Given the description of an element on the screen output the (x, y) to click on. 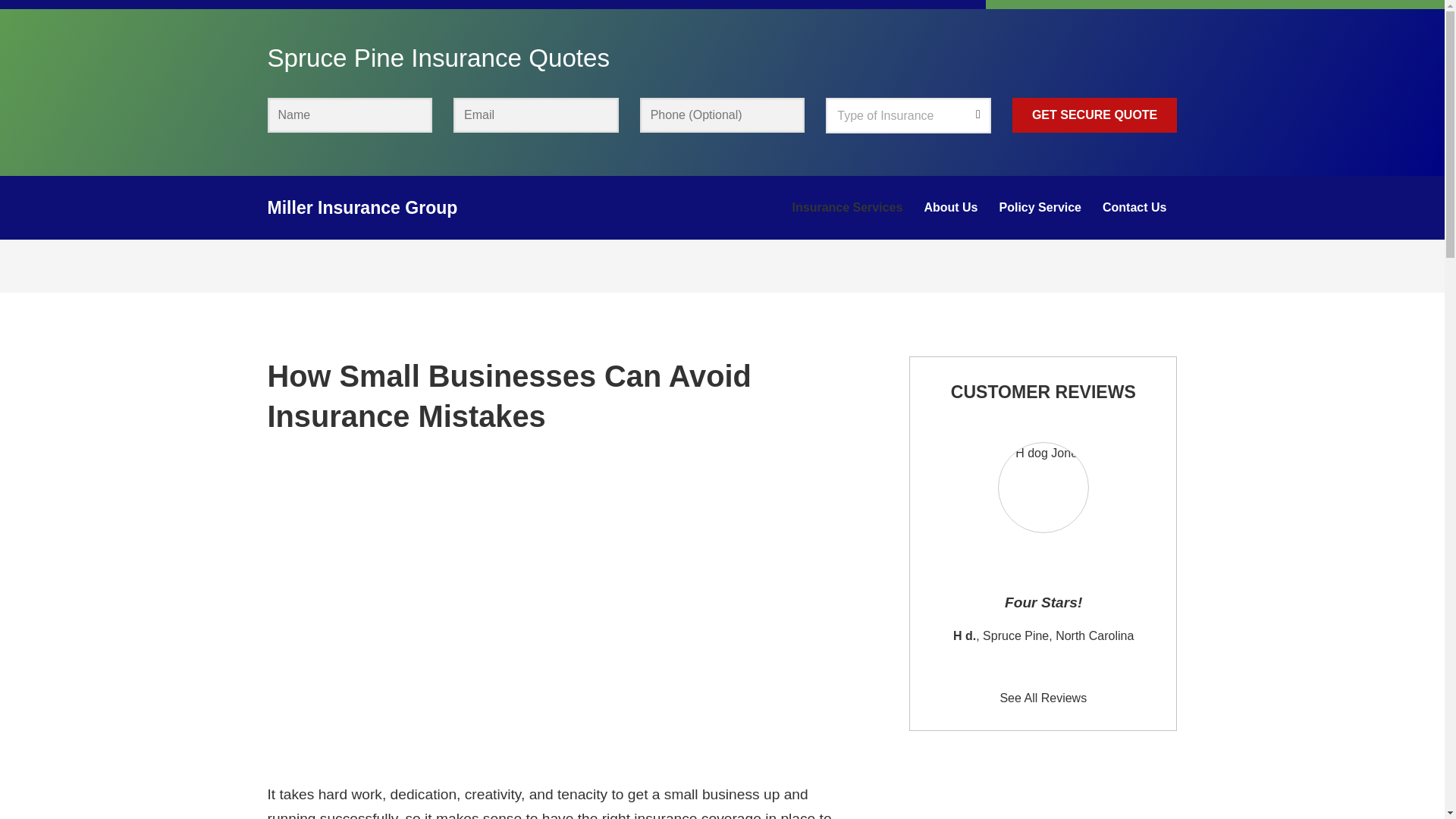
About Us (950, 207)
Get Secure Quote (1094, 114)
Get Secure Quote (1094, 114)
Policy Service (1040, 207)
Miller Insurance Group (361, 207)
Insurance Services (847, 207)
